Given the description of an element on the screen output the (x, y) to click on. 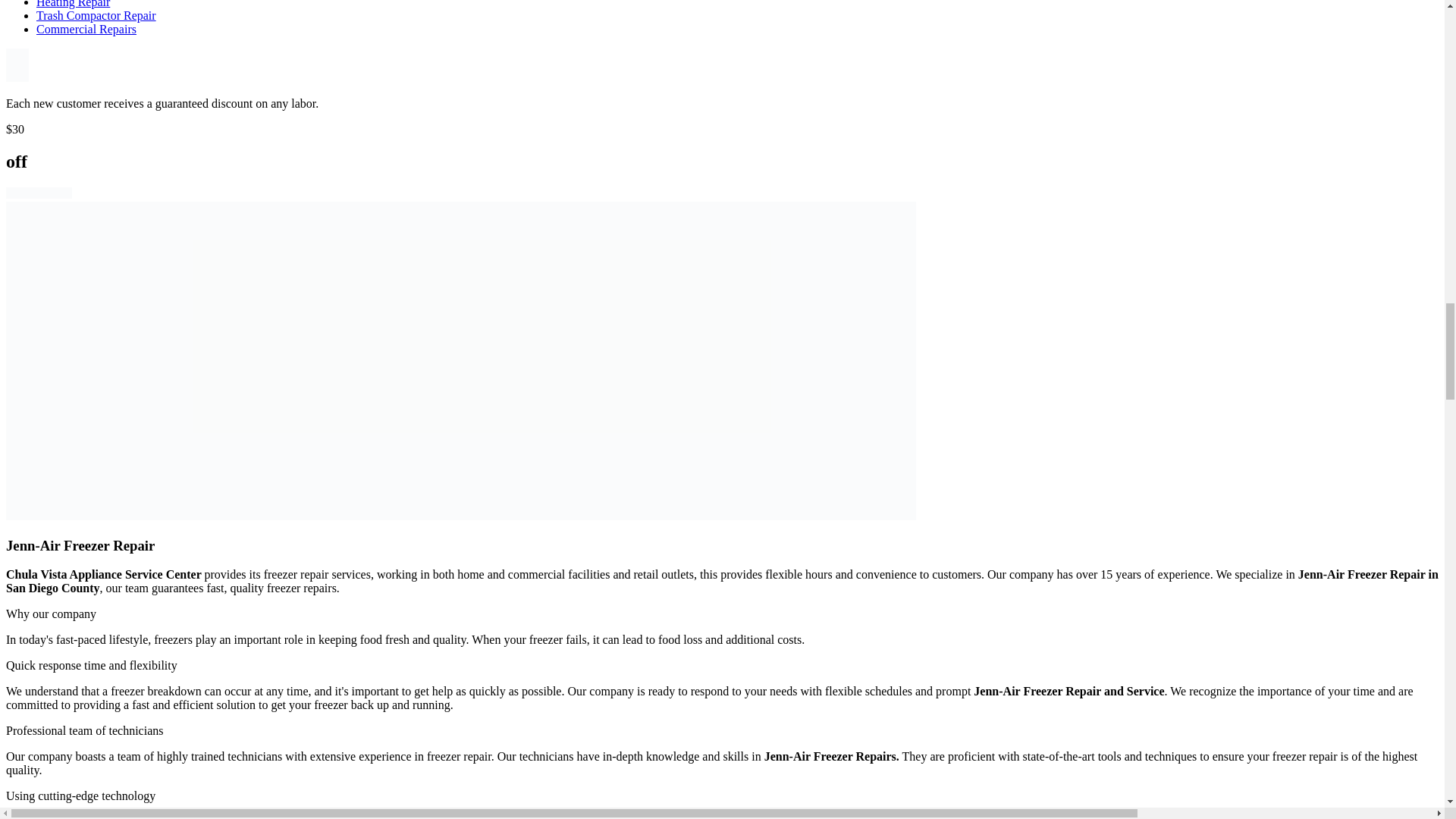
Jenn-Air Freezer Repair 1 (17, 64)
Jenn-Air Freezer Repair 2 (38, 193)
